Given the description of an element on the screen output the (x, y) to click on. 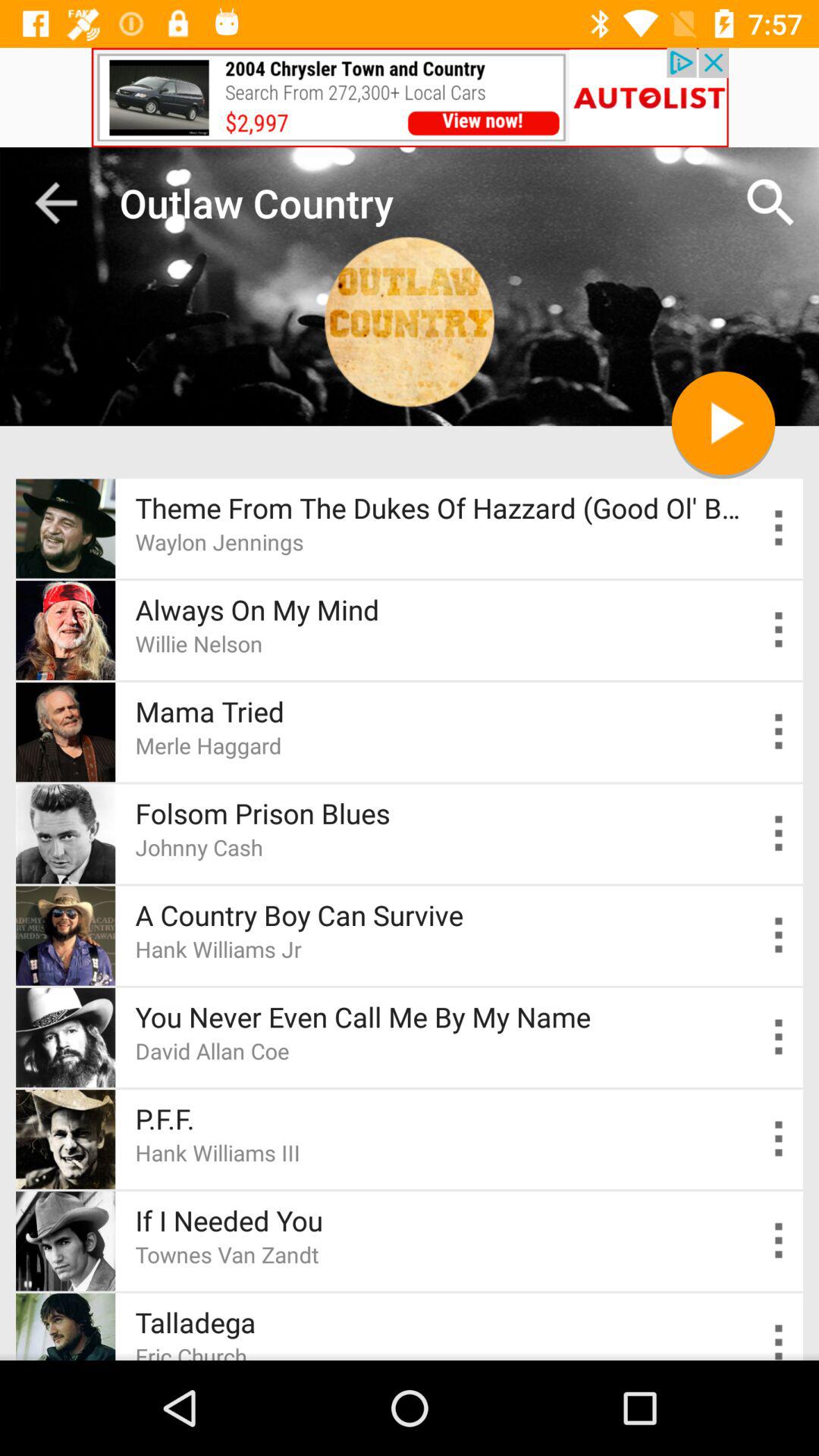
go to overview option (779, 1037)
